Given the description of an element on the screen output the (x, y) to click on. 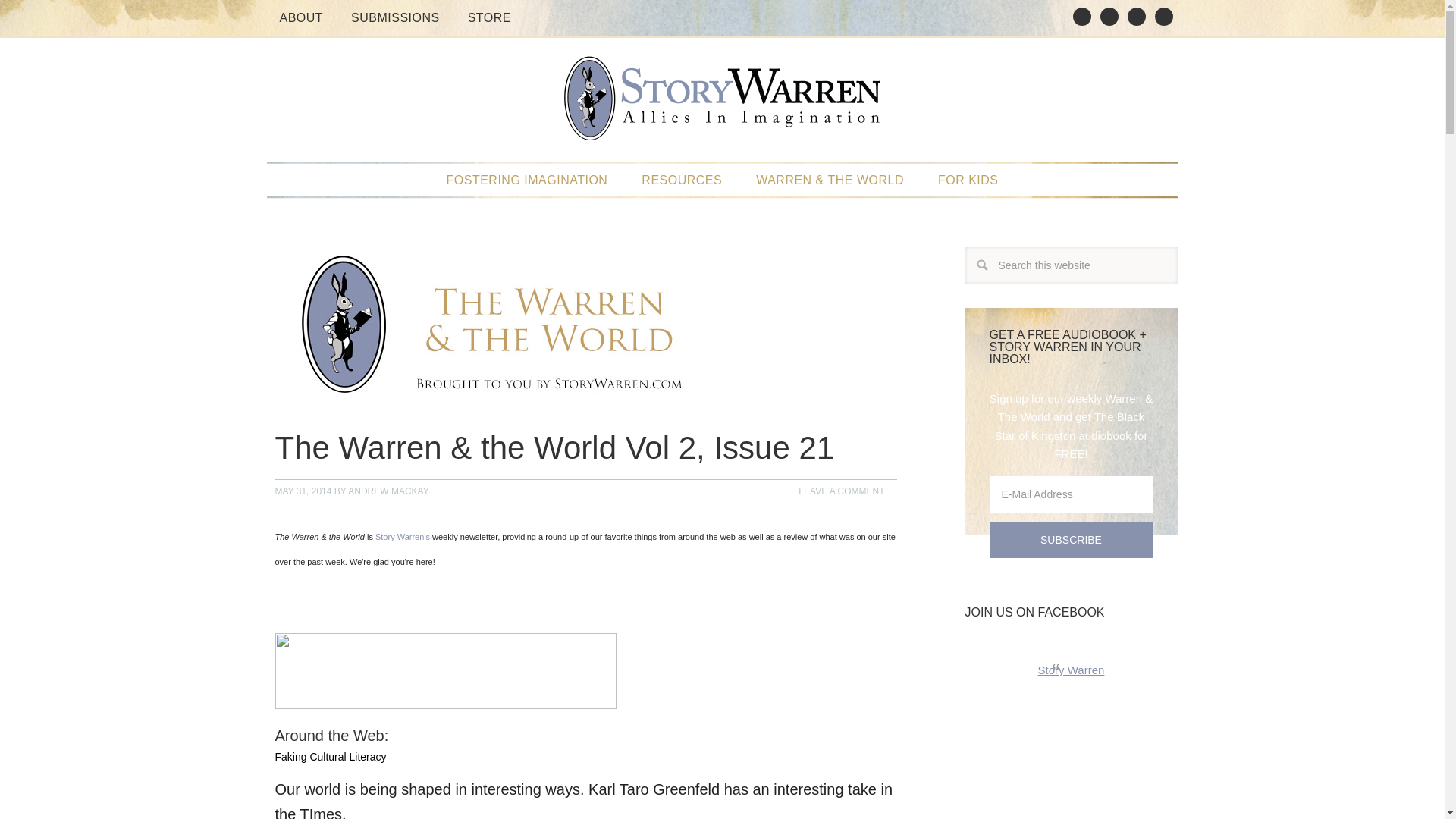
LEAVE A COMMENT (841, 490)
ABOUT (300, 18)
Subscribe (1070, 539)
Story Warren's (402, 536)
STORE (488, 18)
RESOURCES (681, 179)
FOSTERING IMAGINATION (526, 179)
ANDREW MACKAY (387, 491)
FOR KIDS (968, 179)
STORY WARREN (722, 105)
SUBMISSIONS (395, 18)
